Given the description of an element on the screen output the (x, y) to click on. 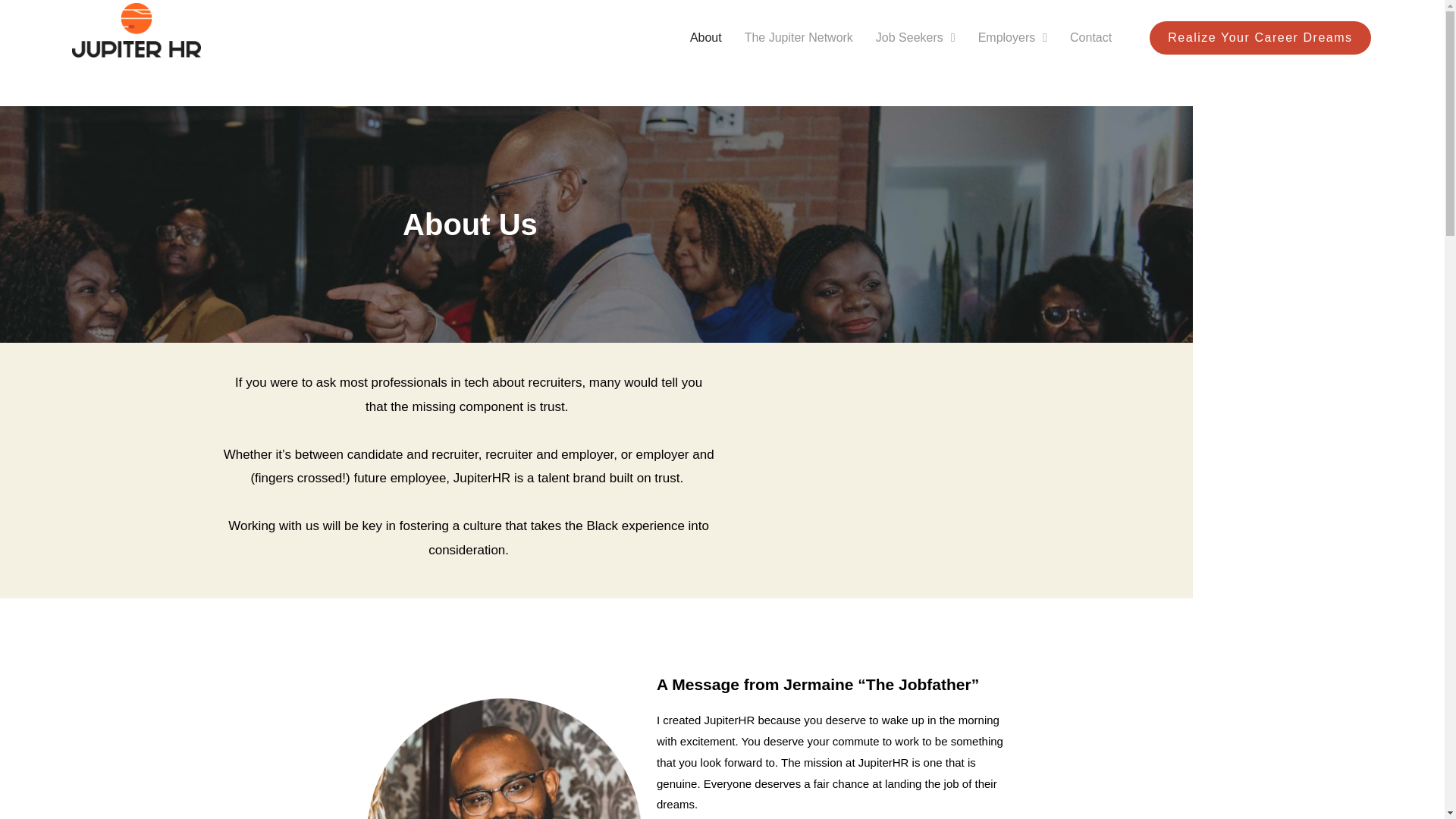
About (705, 37)
Realize Your Career Dreams (1260, 38)
Job Seekers (914, 37)
Contact (1090, 37)
Employers (1012, 37)
The Jupiter Network (798, 37)
